Given the description of an element on the screen output the (x, y) to click on. 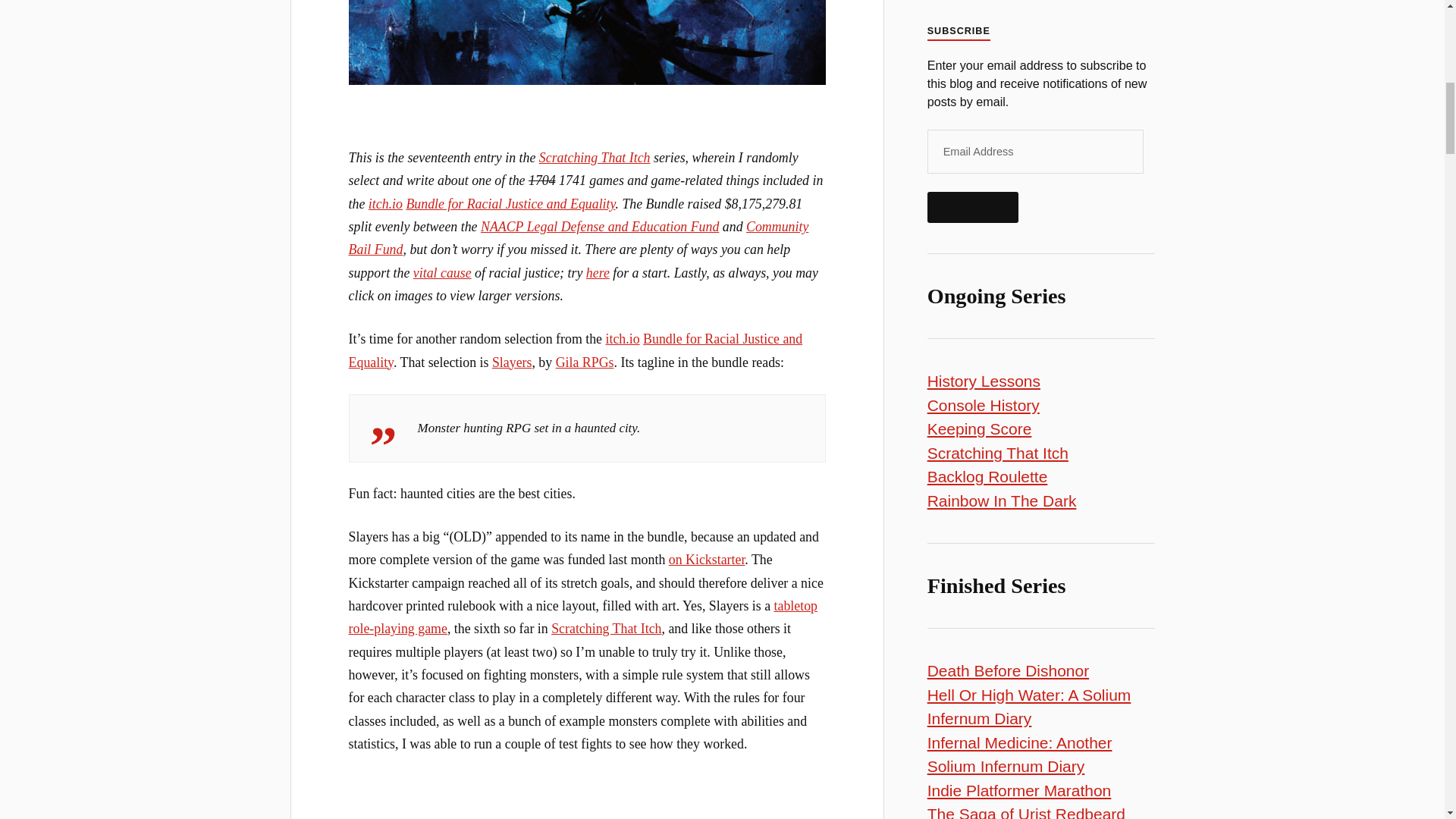
Slayers (512, 362)
itch.io (622, 338)
vital cause (442, 272)
Scratching That Itch (606, 628)
NAACP Legal Defense and Education Fund (599, 226)
Scratching That Itch (594, 157)
Community Bail Fund (579, 238)
itch.io (385, 203)
Bundle for Racial Justice and Equality (576, 350)
here (598, 272)
Gila RPGs (585, 362)
tabletop role-playing game (582, 617)
Yeah, that sounds like maximum gloom. (587, 814)
on Kickstarter (706, 559)
Maximum gloom. (587, 42)
